Given the description of an element on the screen output the (x, y) to click on. 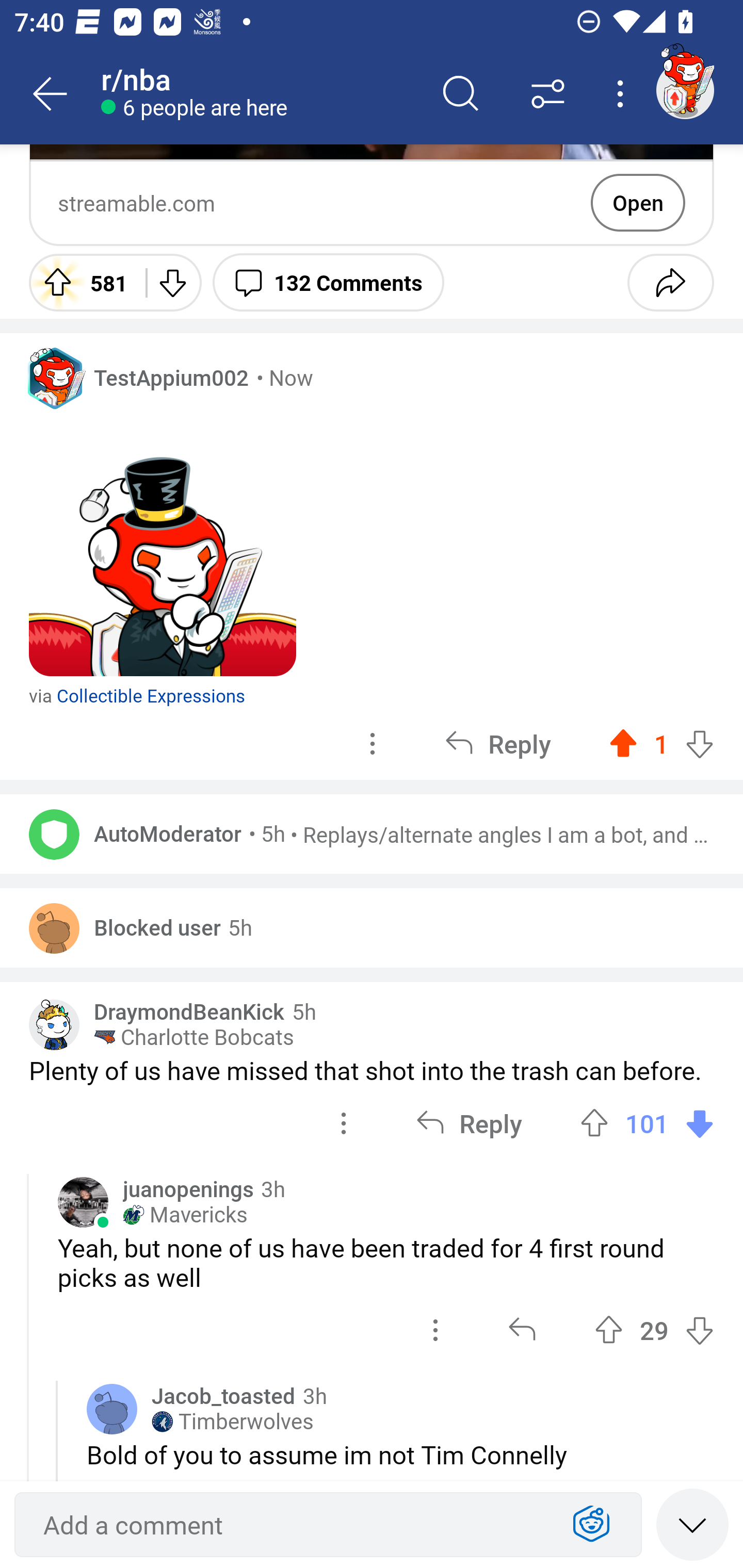
Back (50, 93)
TestAppium002 account (685, 90)
Search comments (460, 93)
Sort comments (547, 93)
More options (623, 93)
r/nba 6 people are here (259, 93)
Open (637, 203)
Upvote 581 (79, 282)
Downvote (171, 282)
132 Comments (328, 282)
Share (670, 282)
bravo expression (162, 542)
via Collectible Expressions (136, 679)
options (372, 743)
Reply (498, 743)
Upvote 1 1 vote Downvote (661, 743)
Avatar (53, 834)
Avatar (53, 928)
Custom avatar (53, 1025)
￼ Charlotte Bobcats (193, 1037)
options (343, 1122)
Reply (469, 1122)
Upvote 101 101 votes Downvote (647, 1122)
Avatar (82, 1202)
￼ Mavericks (185, 1214)
options (435, 1329)
Upvote 29 29 votes Downvote (654, 1329)
Avatar (111, 1409)
￼ Timberwolves (232, 1421)
Bold of you to assume im not Tim Connelly (400, 1453)
Speed read (692, 1524)
Add a comment (291, 1524)
Show Expressions (590, 1524)
